Given the description of an element on the screen output the (x, y) to click on. 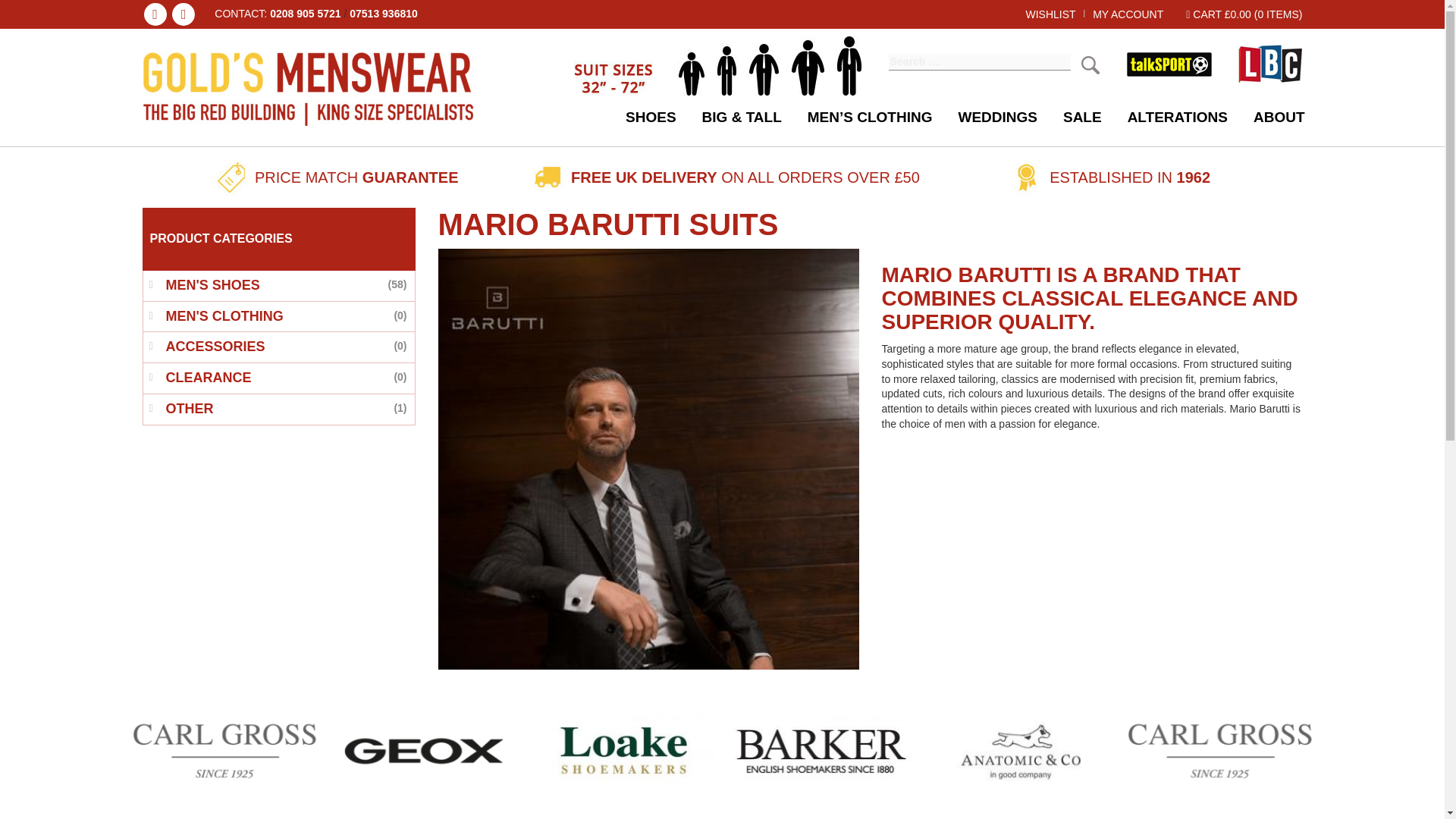
Search (1091, 64)
Search (1091, 64)
View your shopping cart (1243, 14)
SHOES (650, 116)
WISHLIST (1050, 14)
CONTACT: 0208 905 5721 (277, 14)
Search (1091, 64)
MY ACCOUNT (1128, 14)
07513 936810 (383, 13)
